Given the description of an element on the screen output the (x, y) to click on. 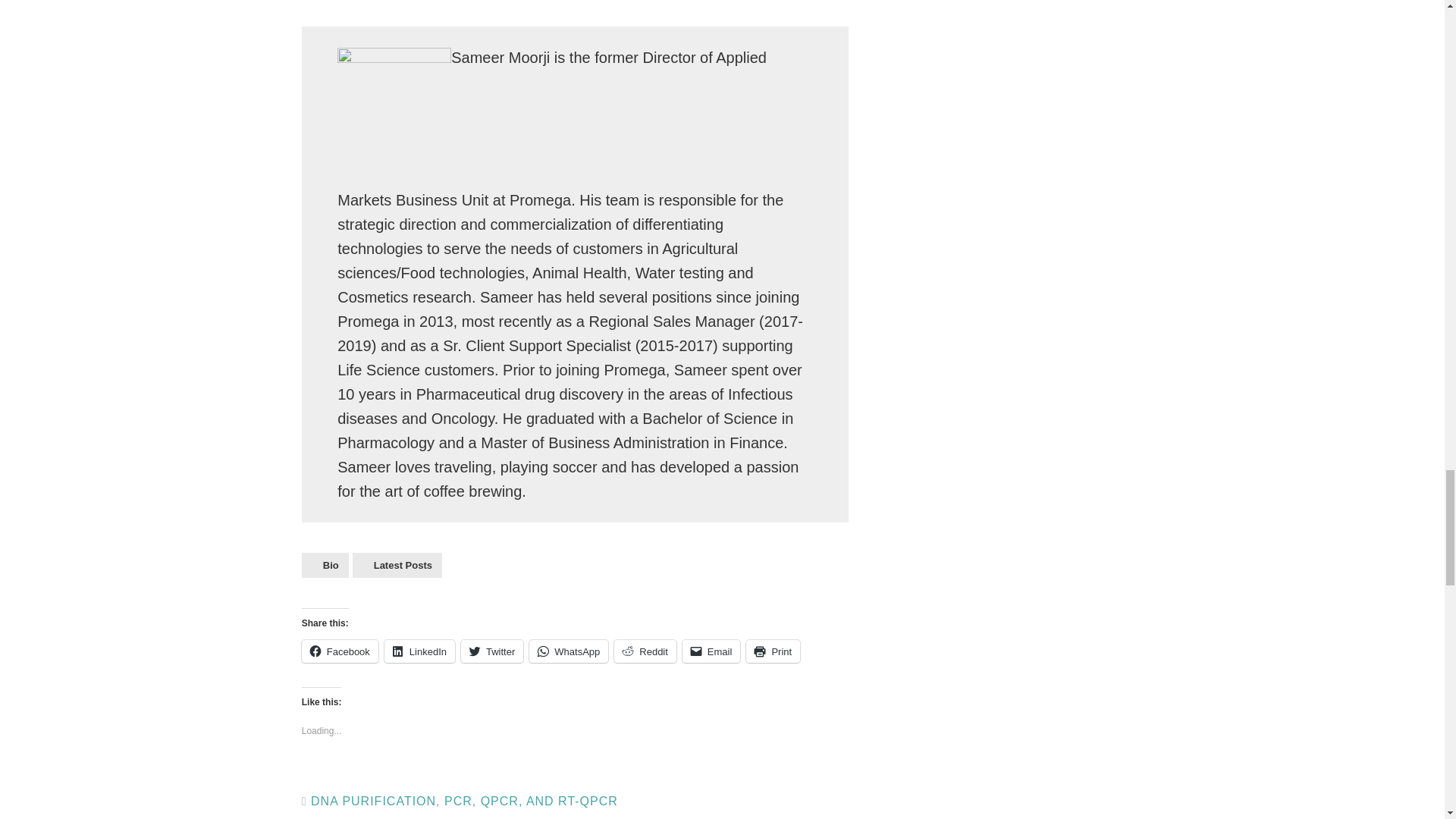
Click to share on Reddit (645, 650)
Click to share on WhatsApp (568, 650)
Click to share on Facebook (339, 650)
Click to email a link to a friend (711, 650)
Click to share on LinkedIn (419, 650)
Click to share on Twitter (491, 650)
